Given the description of an element on the screen output the (x, y) to click on. 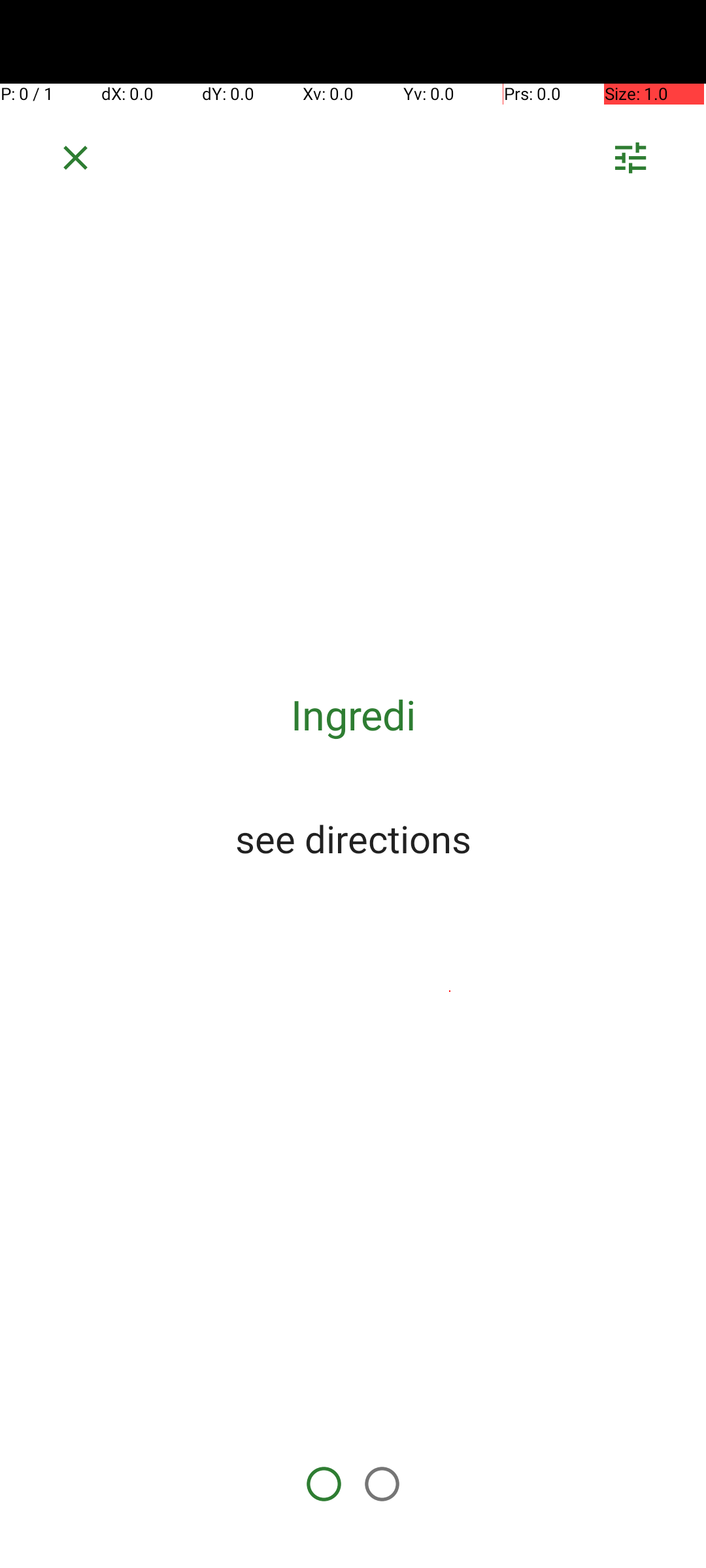
Adjust ingredients Element type: android.widget.Button (630, 161)
Ingredients Element type: android.widget.TextView (352, 714)
see directions Element type: android.widget.TextView (352, 838)
